Given the description of an element on the screen output the (x, y) to click on. 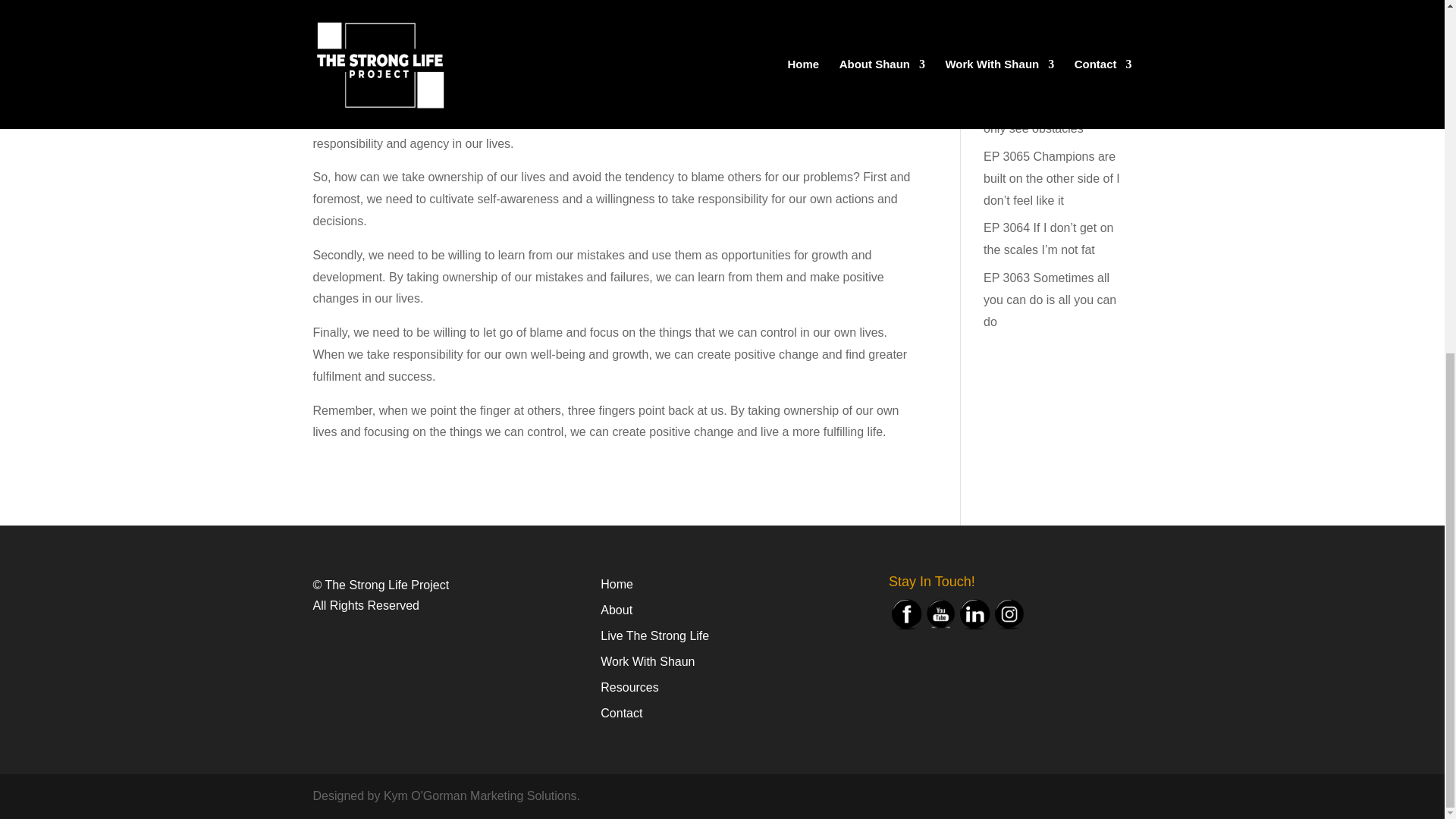
Subscribe via RSS (386, 65)
Facebook (906, 613)
Work With Shaun (646, 661)
Download (505, 30)
Play in new window (415, 30)
Instagram (1009, 613)
Contact (620, 712)
Play in new window (415, 30)
LinkedIn (974, 613)
Resources (628, 686)
Live The Strong Life (654, 635)
RSS (386, 65)
EP 3063 Sometimes all you can do is all you can do (1050, 299)
Home (616, 584)
